Given the description of an element on the screen output the (x, y) to click on. 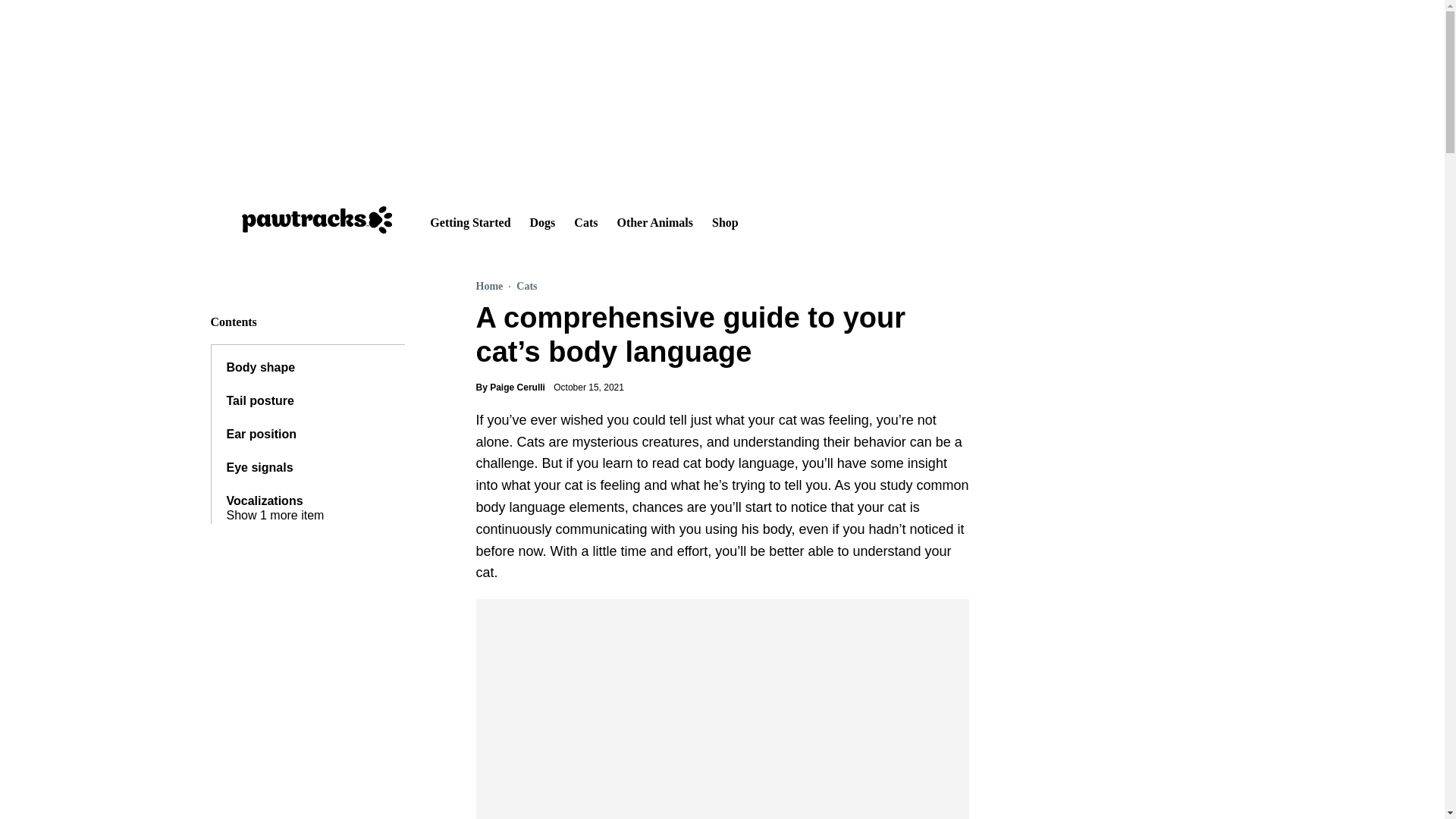
Shop (724, 219)
Getting Started (470, 219)
Dogs (542, 219)
Other Animals (654, 219)
Cats (584, 219)
